Given the description of an element on the screen output the (x, y) to click on. 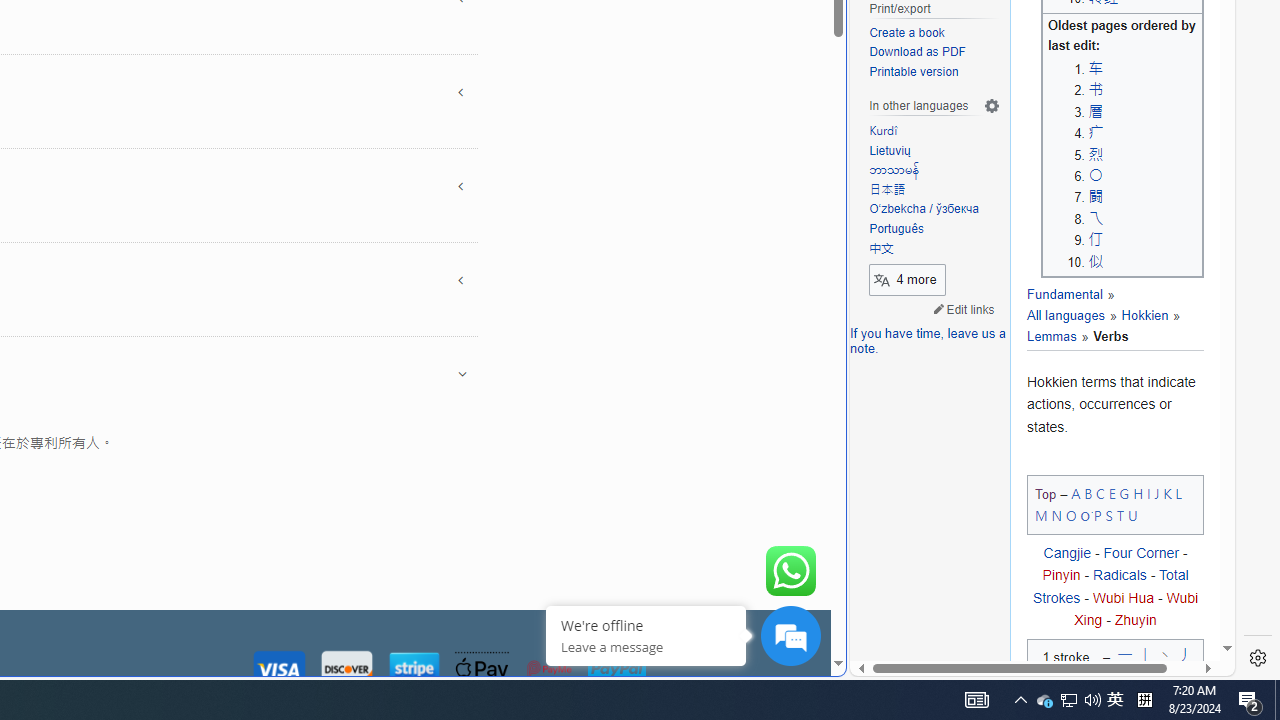
Cangjie (1066, 553)
Hokkien (1136, 316)
Pinyin (1061, 575)
Language settings (992, 106)
Download as PDF (934, 53)
